Given the description of an element on the screen output the (x, y) to click on. 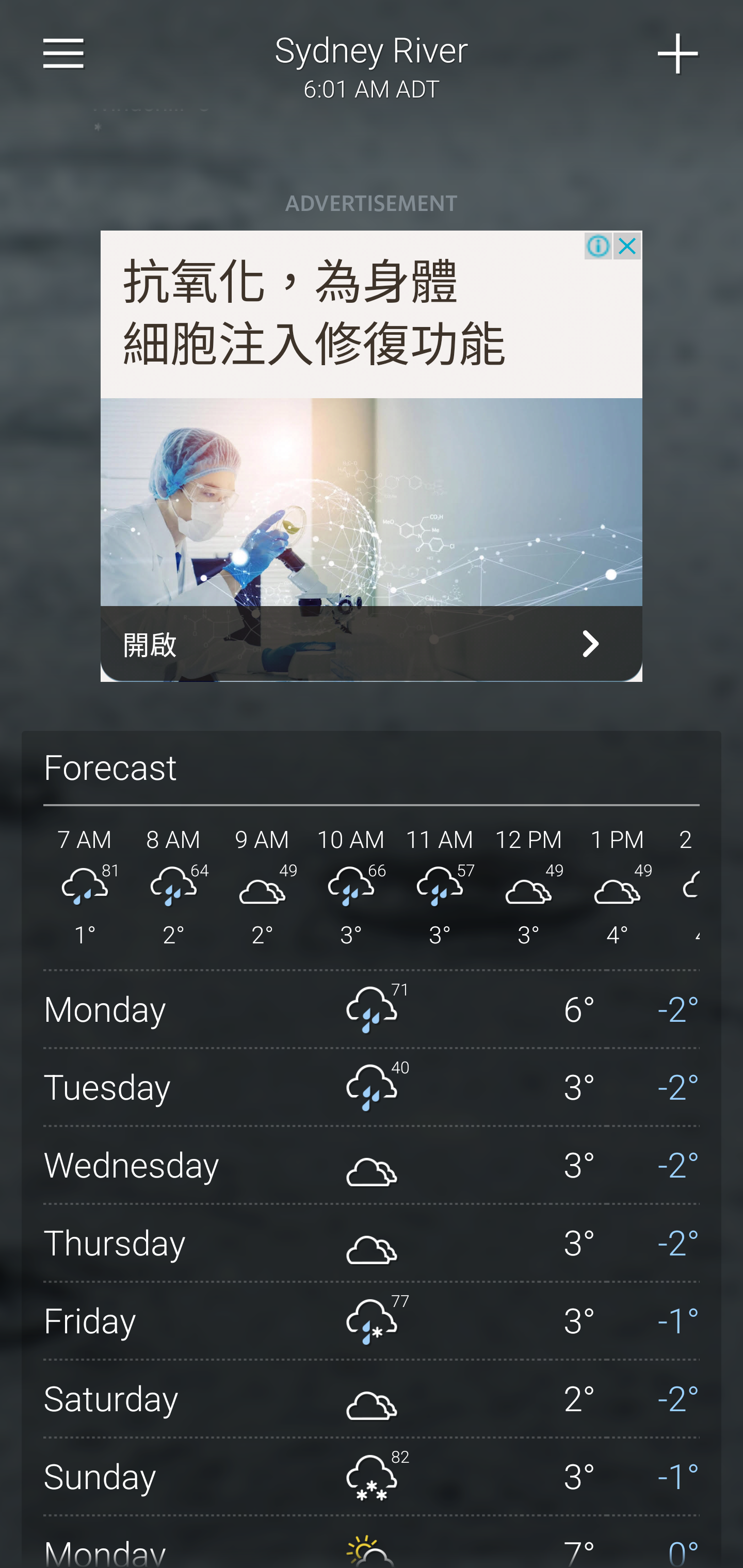
Sidebar (64, 54)
Add City (678, 53)
抗氧化，為身體 細胞注入修復功能 抗氧化，為身體 
 細胞注入修復功能 (314, 314)
開啟 (371, 644)
